Given the description of an element on the screen output the (x, y) to click on. 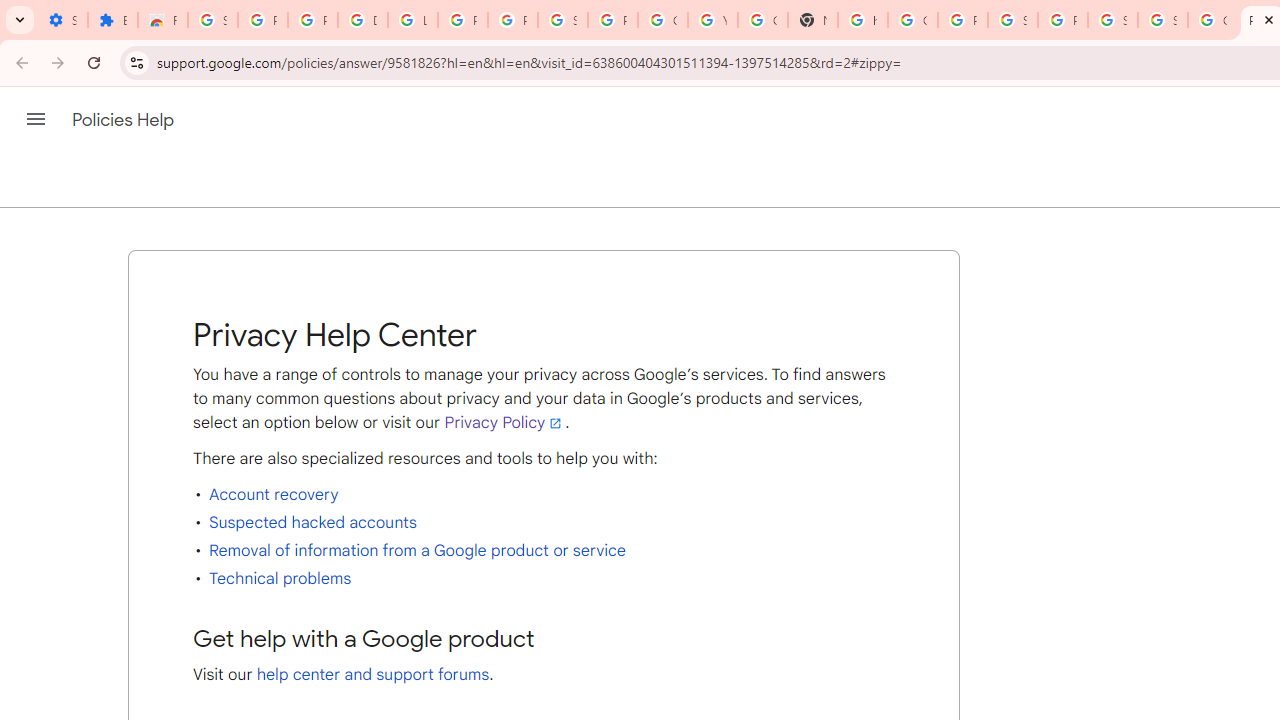
https://scholar.google.com/ (863, 20)
Suspected hacked accounts (312, 522)
Learn how to find your photos - Google Photos Help (412, 20)
Technical problems (280, 578)
New Tab (813, 20)
Settings - On startup (62, 20)
Account recovery (273, 494)
